Given the description of an element on the screen output the (x, y) to click on. 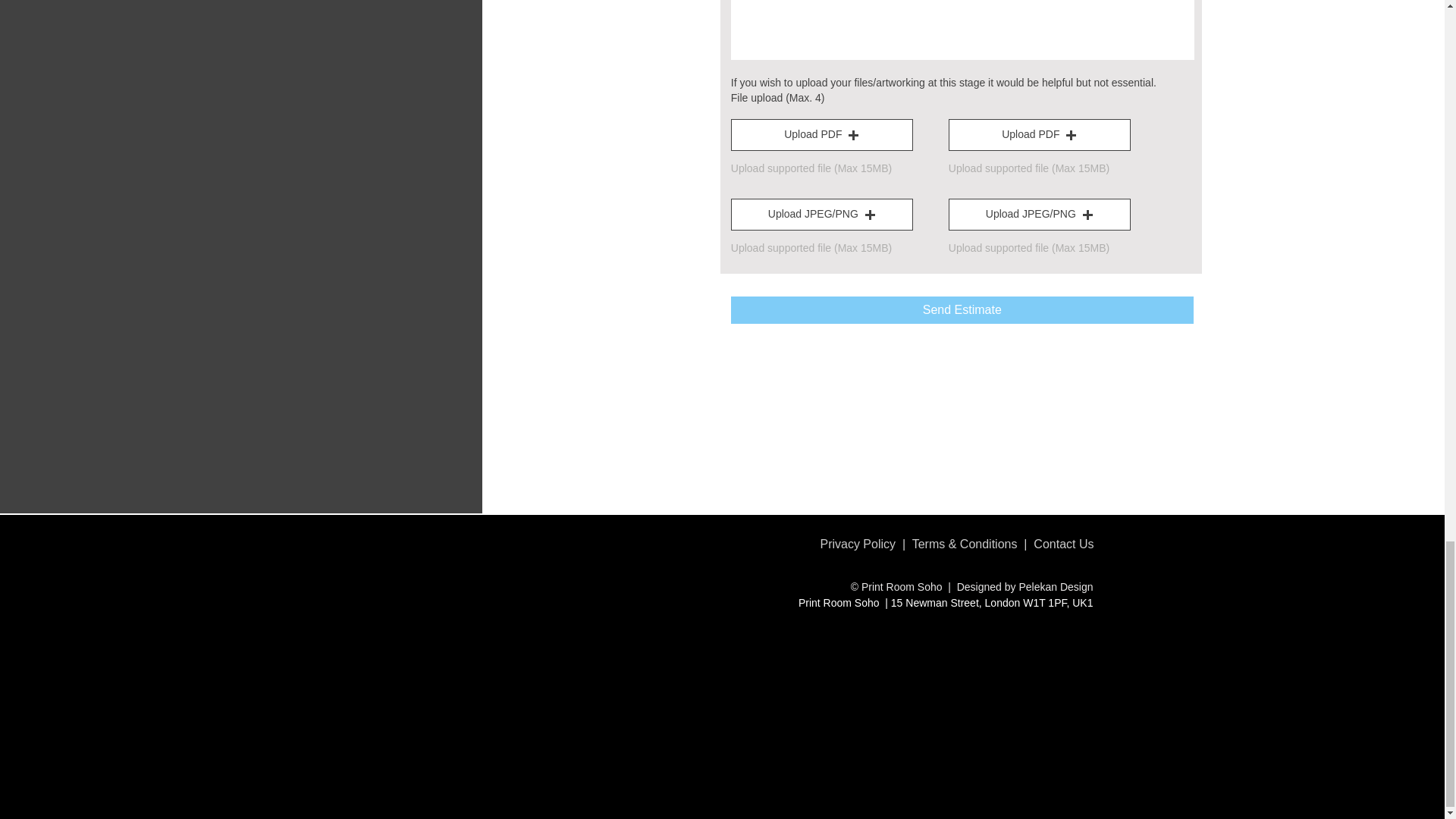
Privacy Policy (857, 543)
Pelekan Design (1055, 586)
Send Estimate (961, 309)
Contact Us (1063, 543)
